Given the description of an element on the screen output the (x, y) to click on. 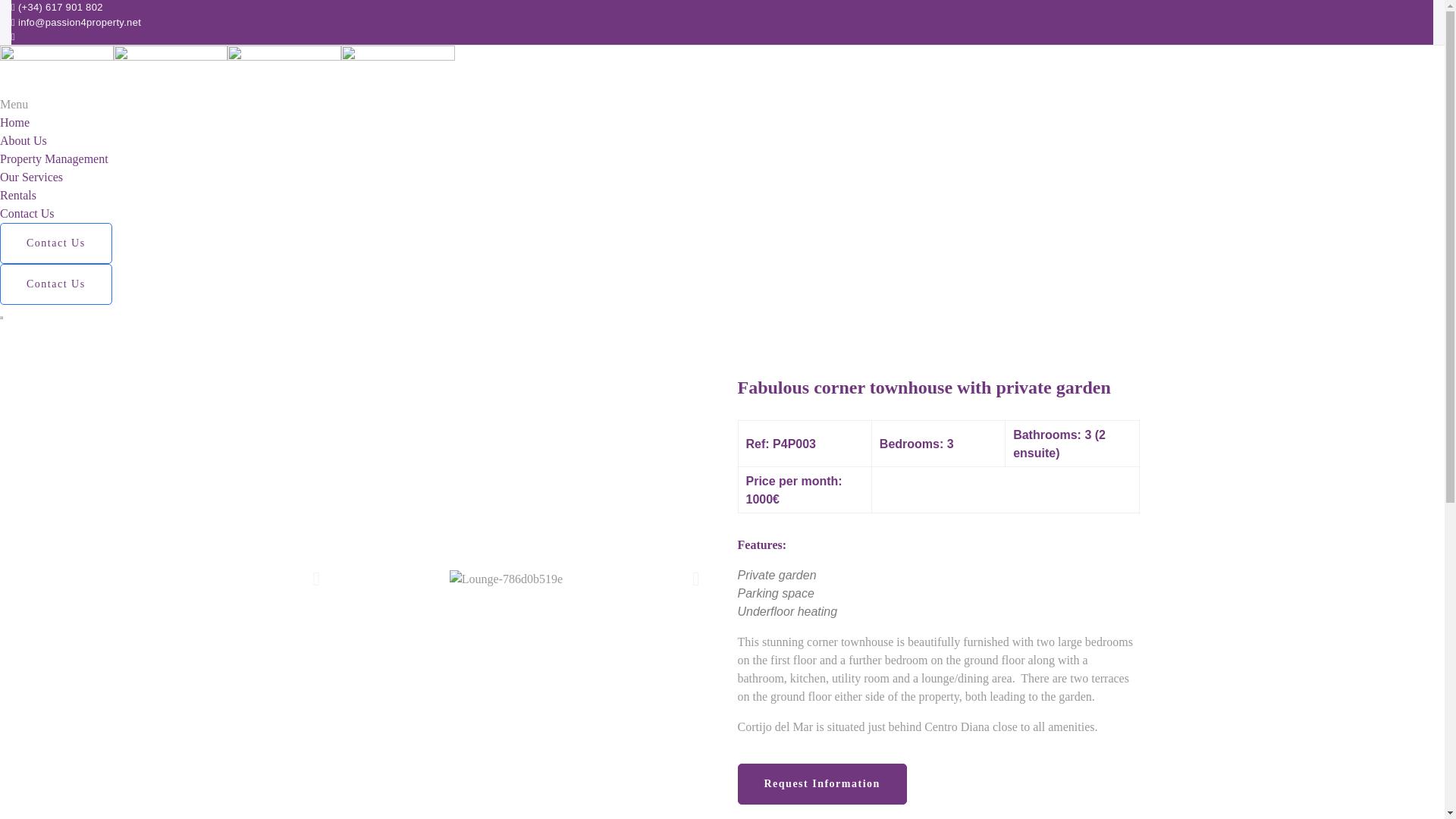
Contact Us (27, 212)
Contact Us (56, 283)
Rentals (18, 194)
Request Information (820, 783)
About Us (23, 139)
Home (14, 121)
Property Management (53, 157)
Our Services (31, 175)
Contact Us (56, 242)
